Given the description of an element on the screen output the (x, y) to click on. 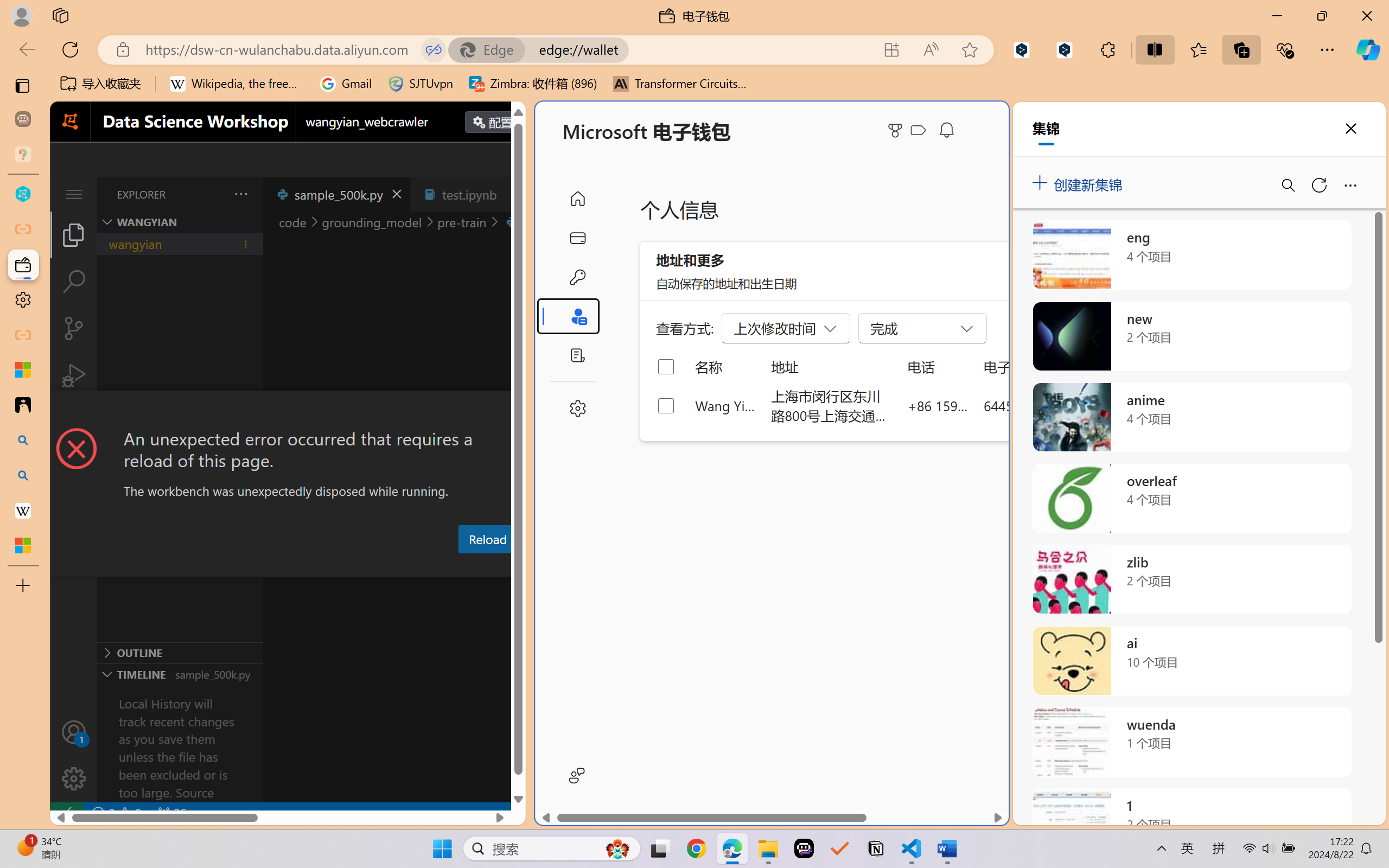
Timeline Section (179, 673)
Explorer actions (212, 194)
Output (Ctrl+Shift+U) (377, 565)
